Given the description of an element on the screen output the (x, y) to click on. 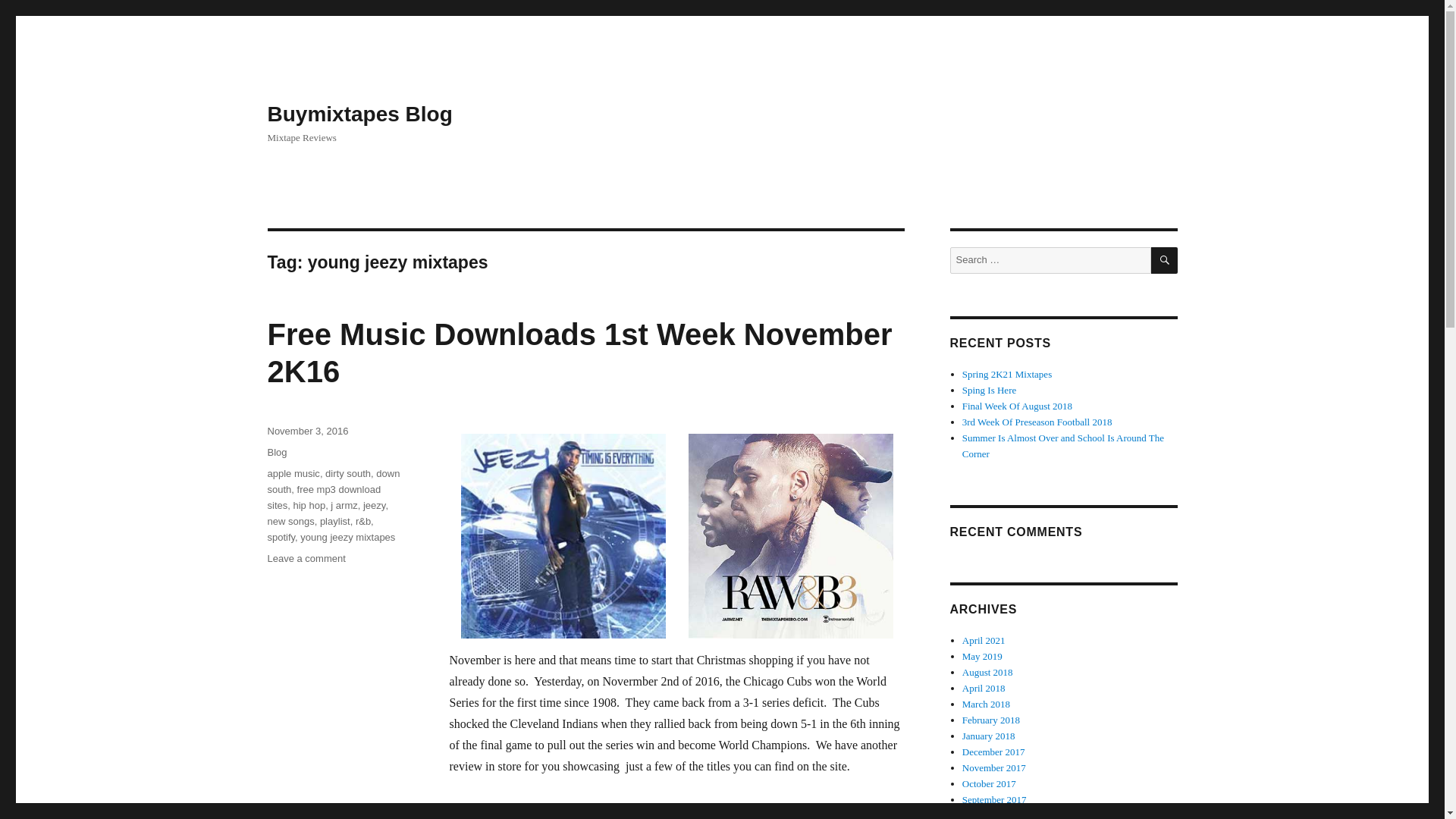
February 2018 (991, 719)
playlist (335, 521)
down south (332, 481)
young jeezy mixtapes (346, 536)
apple music (292, 473)
dirty south (347, 473)
November 3, 2016 (306, 430)
August 2017 (987, 814)
October 2017 (989, 783)
May 2019 (982, 655)
